Given the description of an element on the screen output the (x, y) to click on. 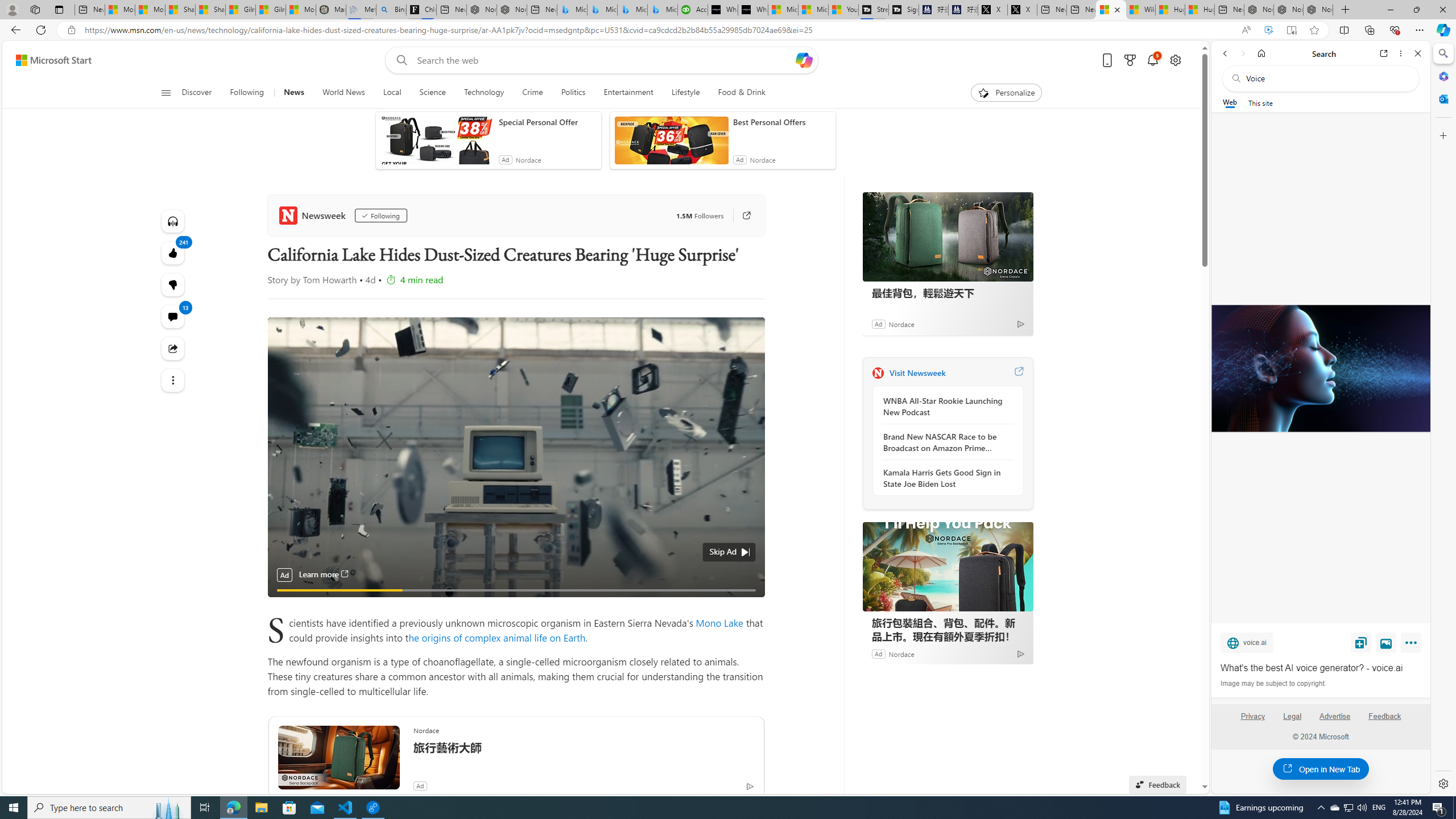
What's the best AI voice generator? - voice.ai (1320, 667)
Food & Drink (737, 92)
Home (1261, 53)
